Given the description of an element on the screen output the (x, y) to click on. 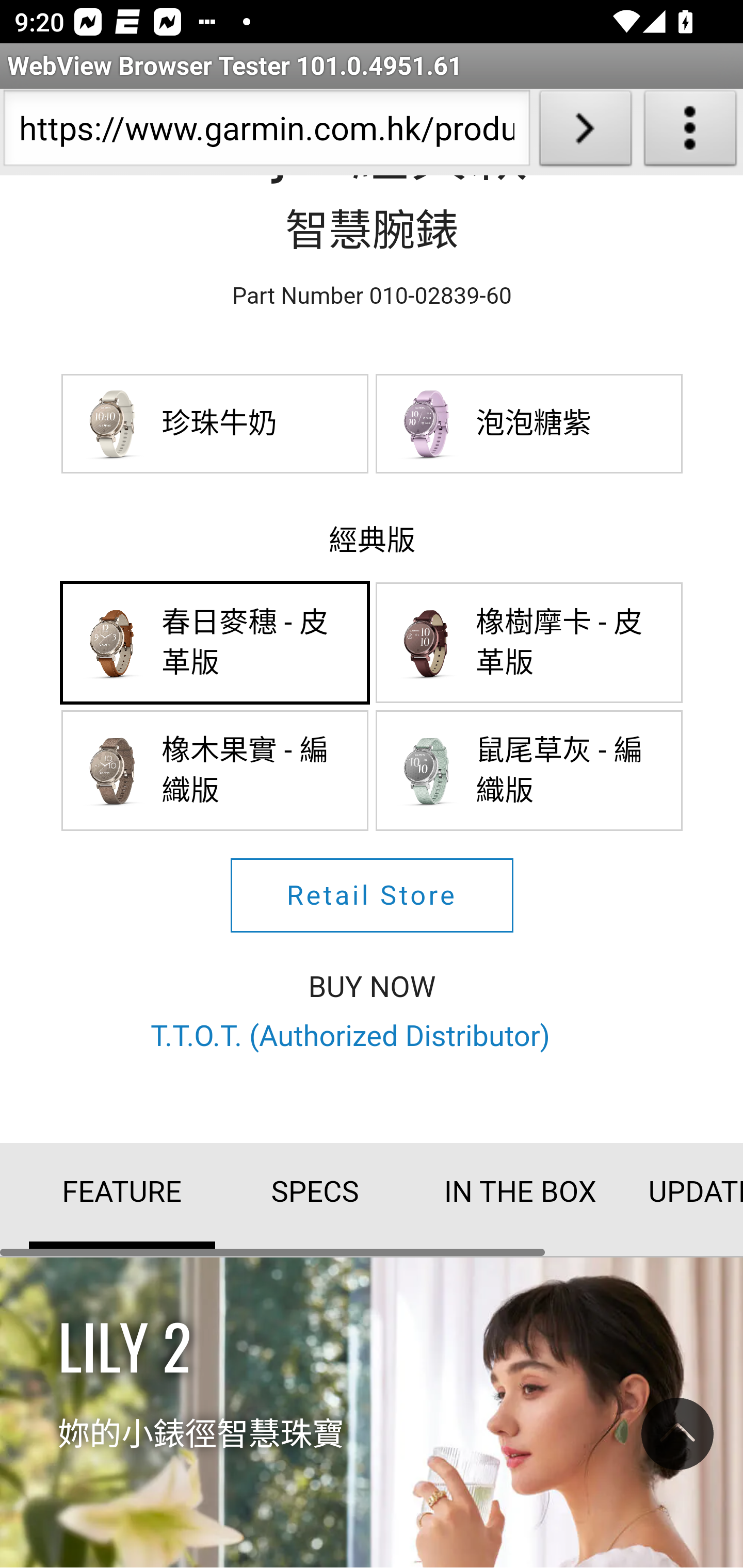
Load URL (585, 132)
About WebView (690, 132)
Lily 2 珍珠牛奶 010-02839-20 珍珠牛奶 (215, 423)
Lily 2 泡泡糖紫 010-02839-21 泡泡糖紫 (529, 423)
經典版 (372, 540)
Lily 2 經典款 春日麥穗 - 皮革版 010-02839-60 春日麥穗 - 皮革版 (215, 642)
Lily 2 經典款 橡樹摩卡 - 皮革版 010-02839-61 橡樹摩卡 - 皮革版 (529, 642)
Lily 2 經典款 橡木果實 - 編織版 010-02839-62 橡木果實 - 編織版 (215, 771)
Lily 2 經典款 鼠尾草灰 - 編織版 010-02839-63 鼠尾草灰 - 編織版 (529, 771)
Retail Store (371, 894)
T.T.O.T. (Authorized Distributor) (349, 1036)
FEATURE (122, 1196)
SPECS (314, 1192)
IN THE BOX (508, 1192)
UPDATE (675, 1192)
Scroll Back to Top Back to Top (676, 1439)
